Given the description of an element on the screen output the (x, y) to click on. 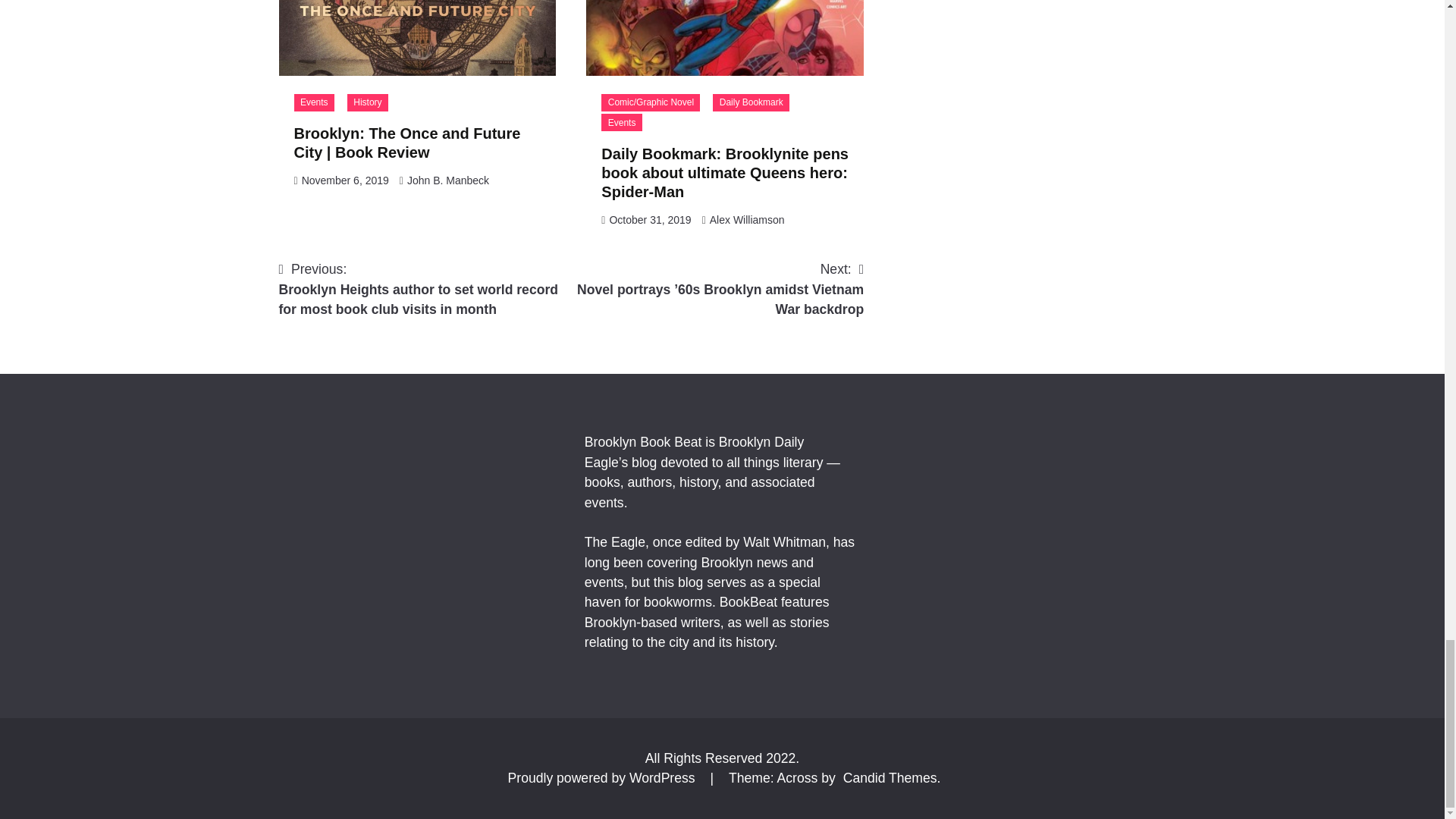
Alex Williamson (747, 219)
Events (621, 122)
November 6, 2019 (344, 180)
Events (314, 102)
Daily Bookmark (751, 102)
History (367, 102)
John B. Manbeck (448, 180)
October 31, 2019 (649, 219)
